Given the description of an element on the screen output the (x, y) to click on. 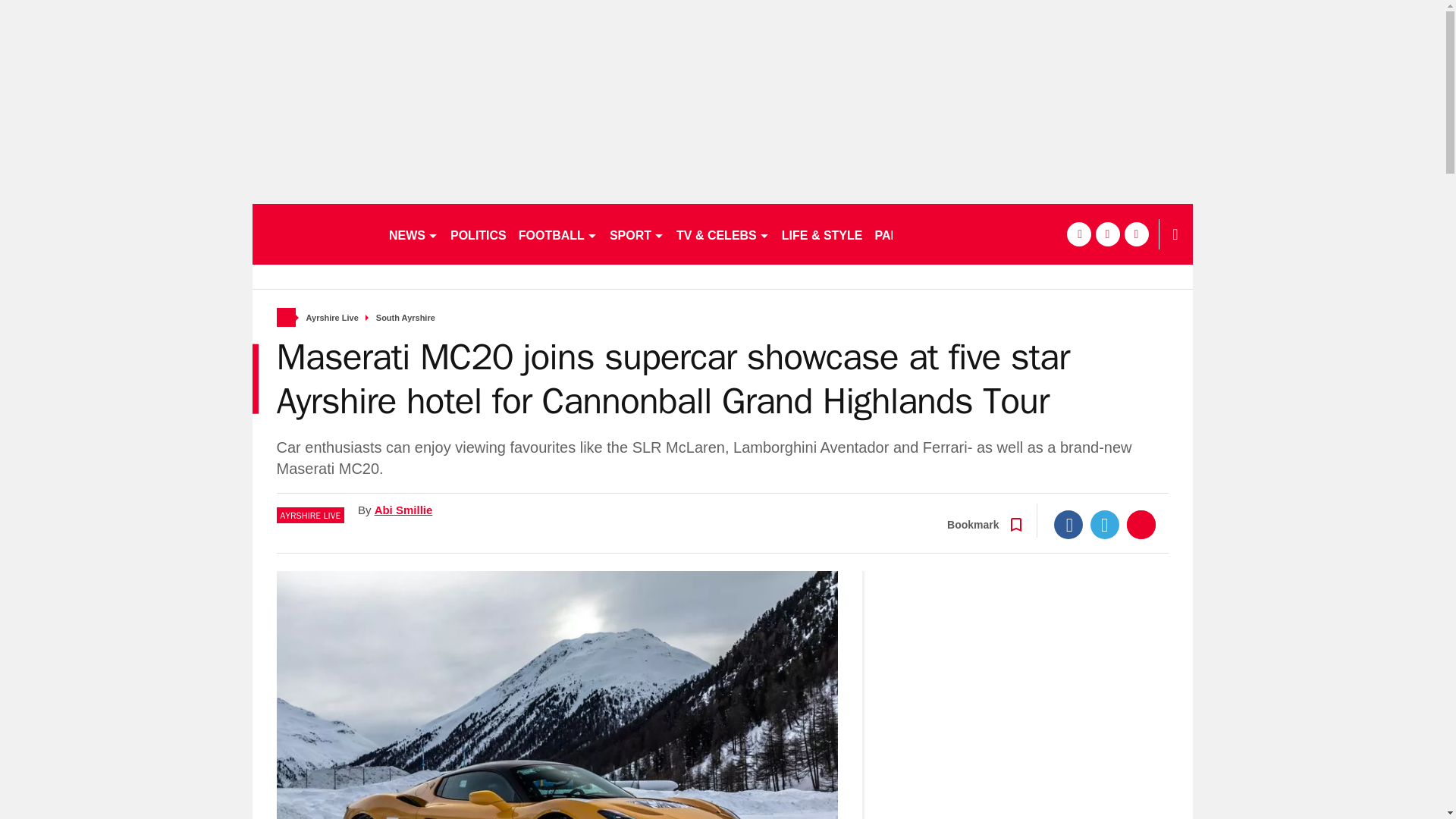
FOOTBALL (558, 233)
Facebook (1068, 524)
dailyrecord (313, 233)
facebook (1077, 233)
instagram (1136, 233)
POLITICS (478, 233)
SPORT (636, 233)
Twitter (1104, 524)
twitter (1106, 233)
NEWS (413, 233)
